Given the description of an element on the screen output the (x, y) to click on. 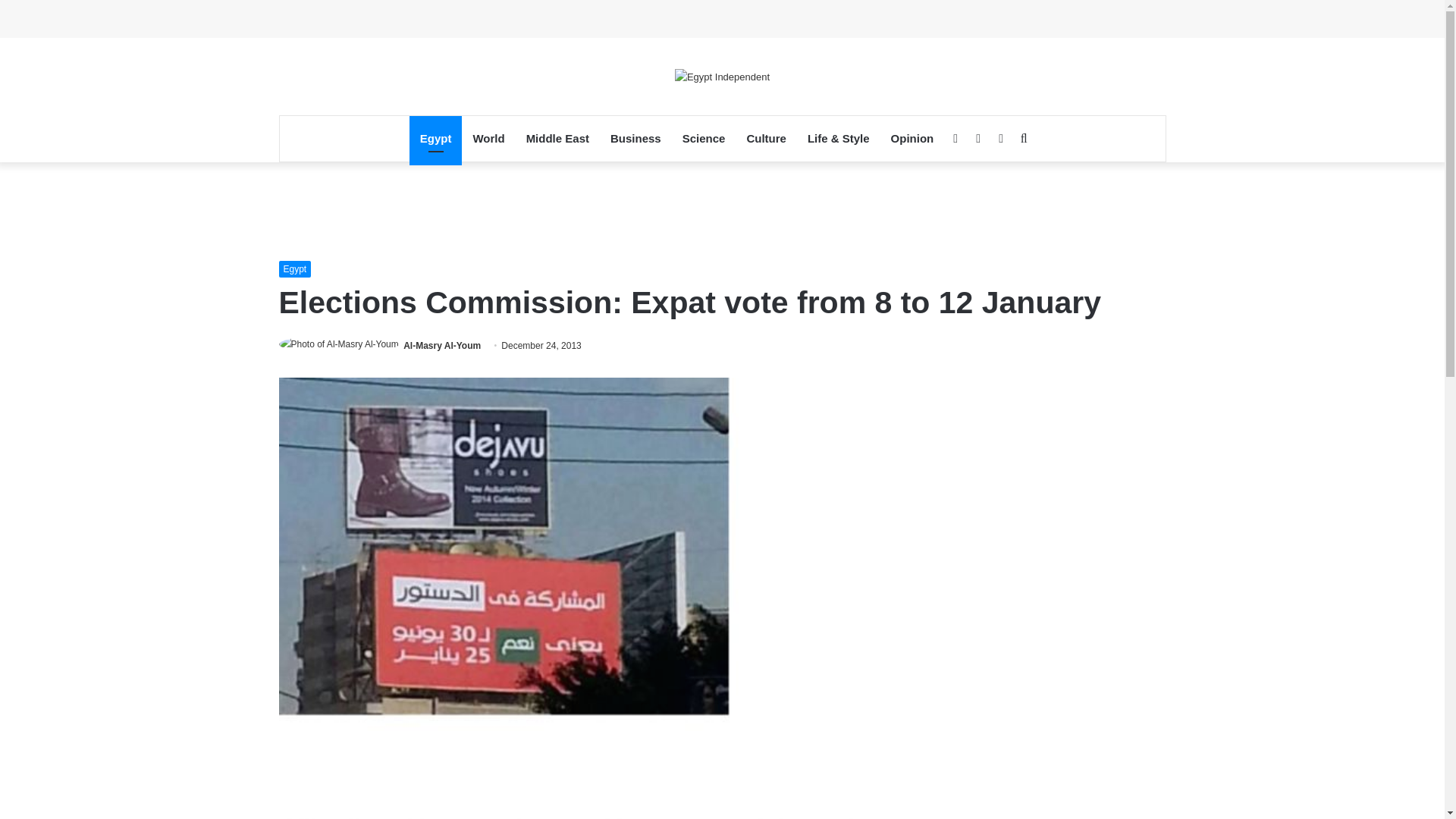
Al-Masry Al-Youm (441, 345)
Twitter (978, 138)
Egypt (436, 138)
RSS (1000, 138)
Egypt (295, 269)
World (488, 138)
Science (703, 138)
Opinion (912, 138)
Middle East (557, 138)
Egypt Independent (722, 76)
Culture (765, 138)
Business (635, 138)
Al-Masry Al-Youm (441, 345)
Facebook (954, 138)
Search for (1023, 138)
